Given the description of an element on the screen output the (x, y) to click on. 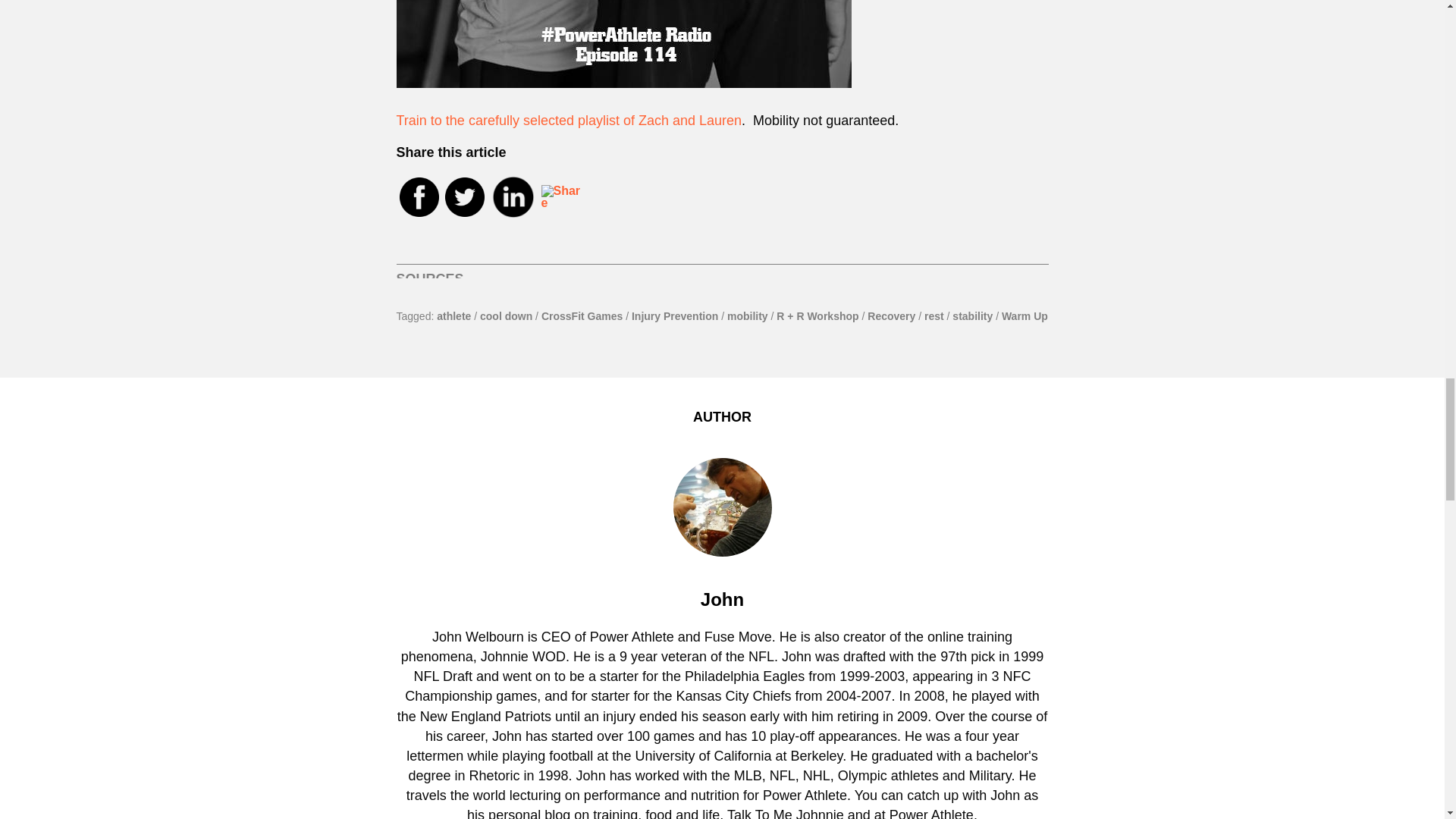
Facebook (418, 198)
Twitter (463, 198)
LinkedIn (511, 197)
